Given the description of an element on the screen output the (x, y) to click on. 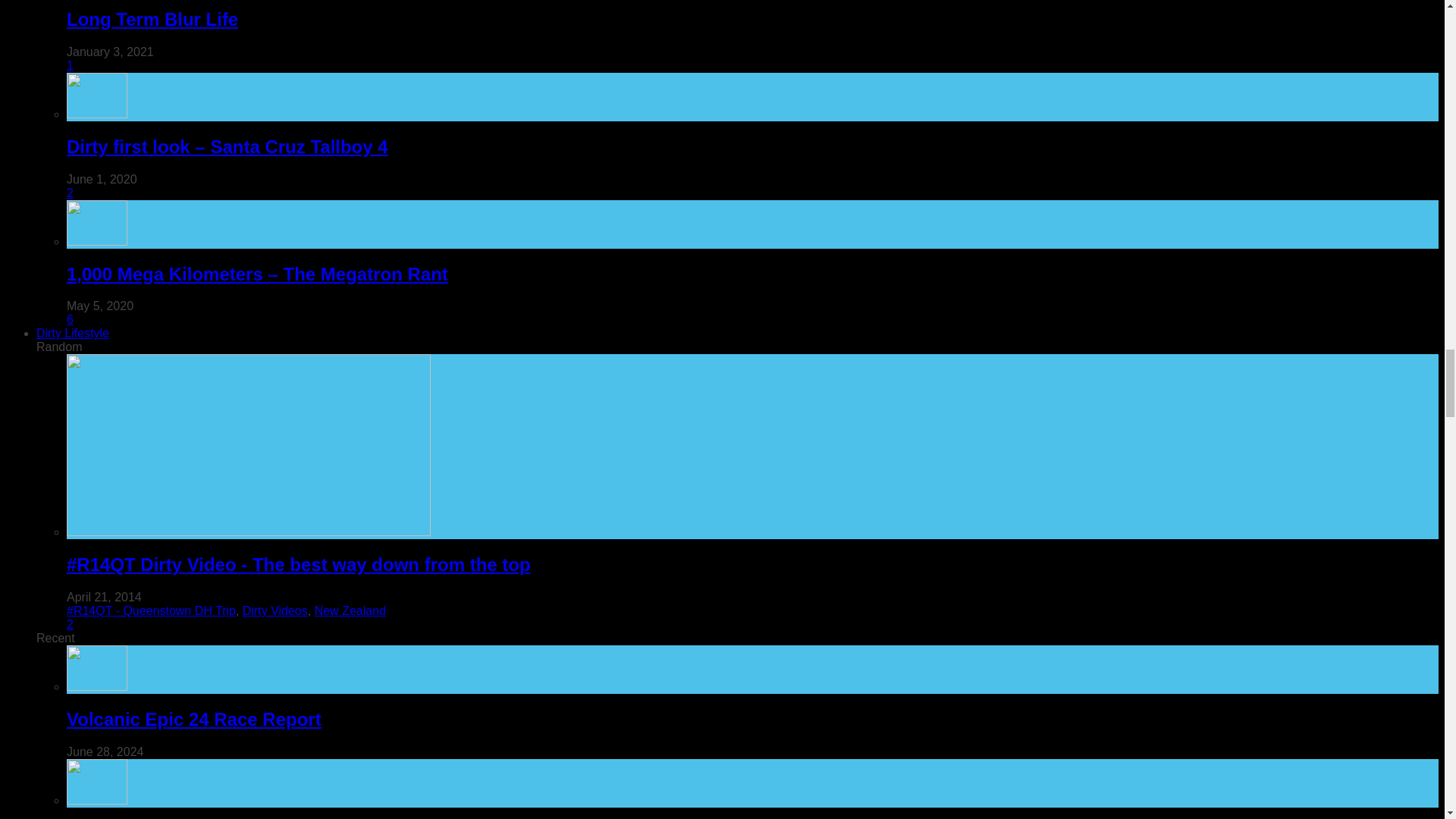
View all posts in New Zealand (349, 610)
View all posts in Dirty Videos (275, 610)
